Given the description of an element on the screen output the (x, y) to click on. 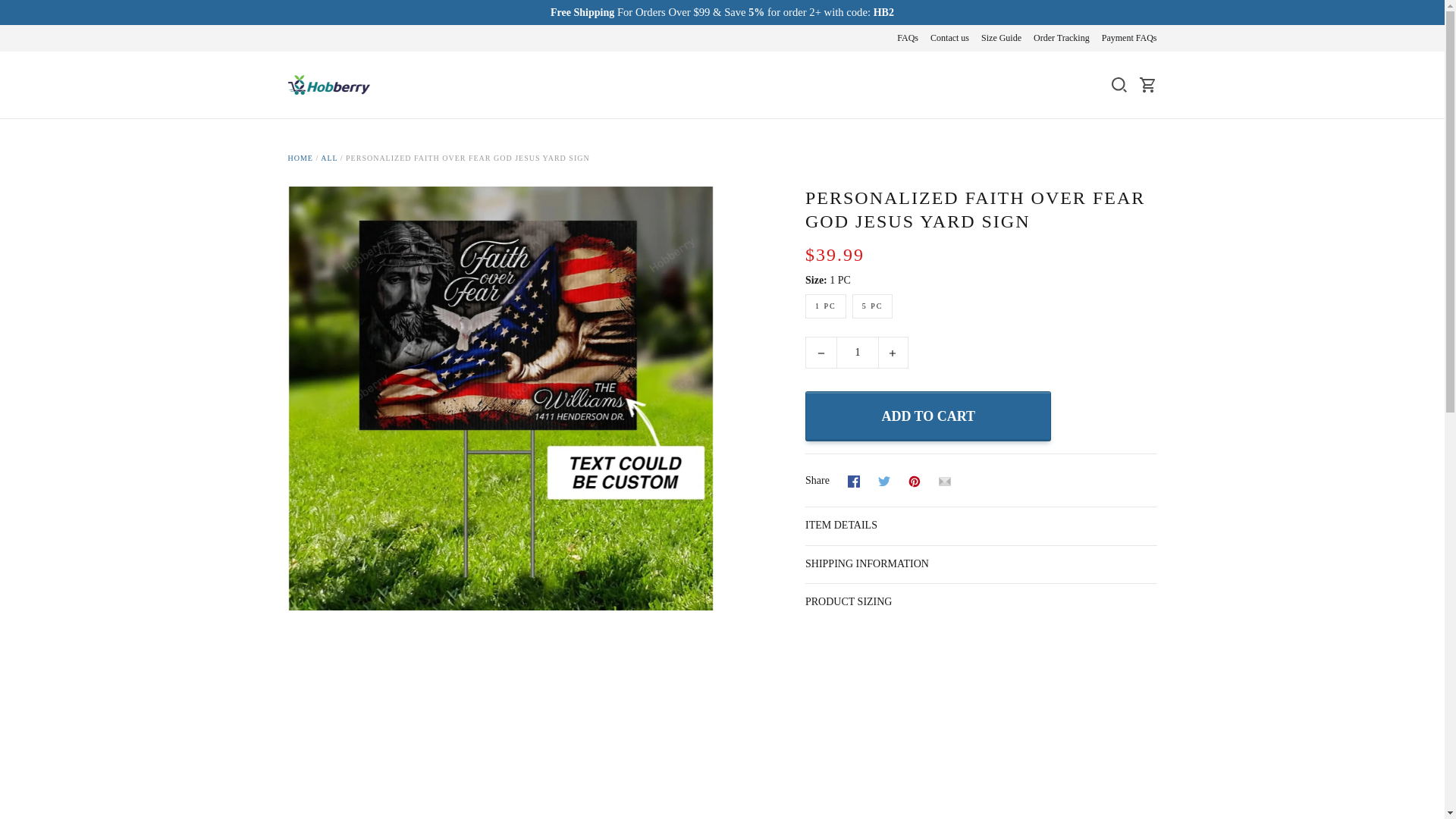
Size Guide (1001, 37)
ADD TO CART (928, 416)
Order Tracking (1061, 37)
1 (857, 352)
Share on Facebook (853, 480)
ALL (328, 157)
Pin on Pinterest (914, 480)
Share on Twitter (883, 480)
FAQs (907, 37)
5 PC (872, 306)
